Given the description of an element on the screen output the (x, y) to click on. 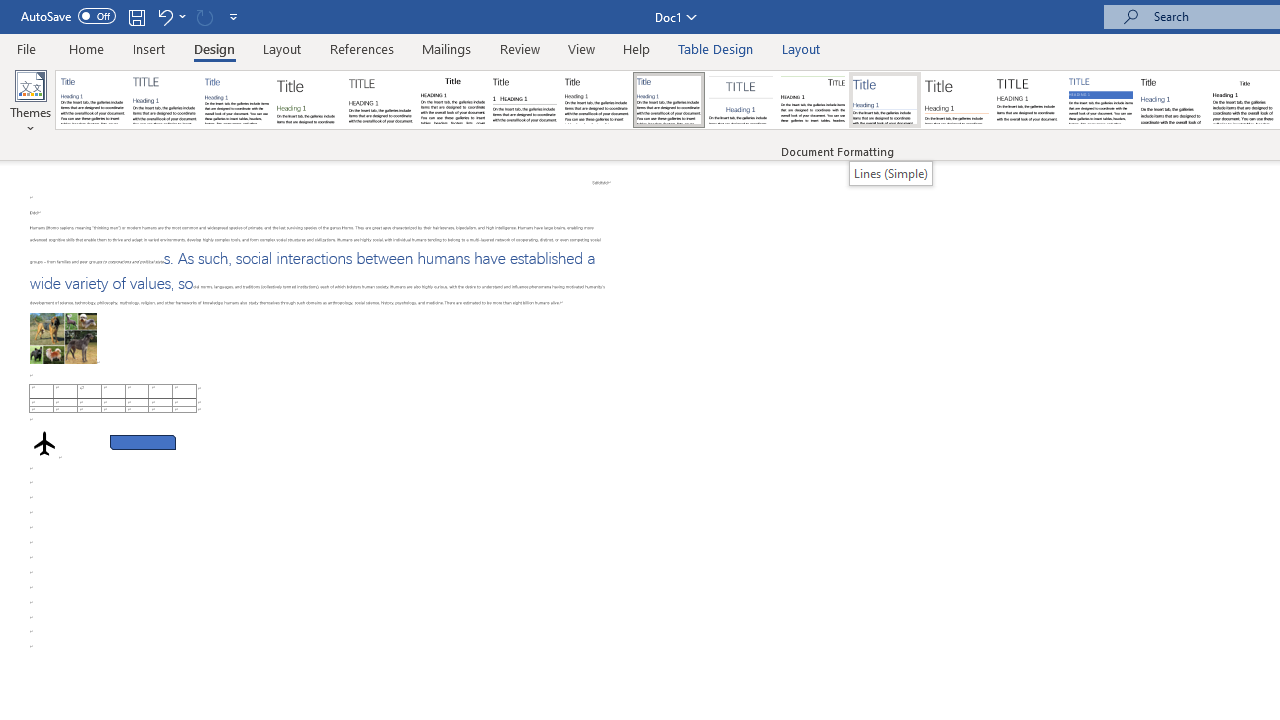
Lines (Stylish) (957, 100)
Black & White (Word 2013) (596, 100)
Undo Apply Quick Style Set (164, 15)
Basic (Elegant) (164, 100)
Basic (Stylish) (308, 100)
Casual (669, 100)
Rectangle: Diagonal Corners Snipped 2 (143, 428)
Document (93, 100)
Themes (30, 102)
Lines (Simple) (890, 173)
Can't Repeat (204, 15)
